Given the description of an element on the screen output the (x, y) to click on. 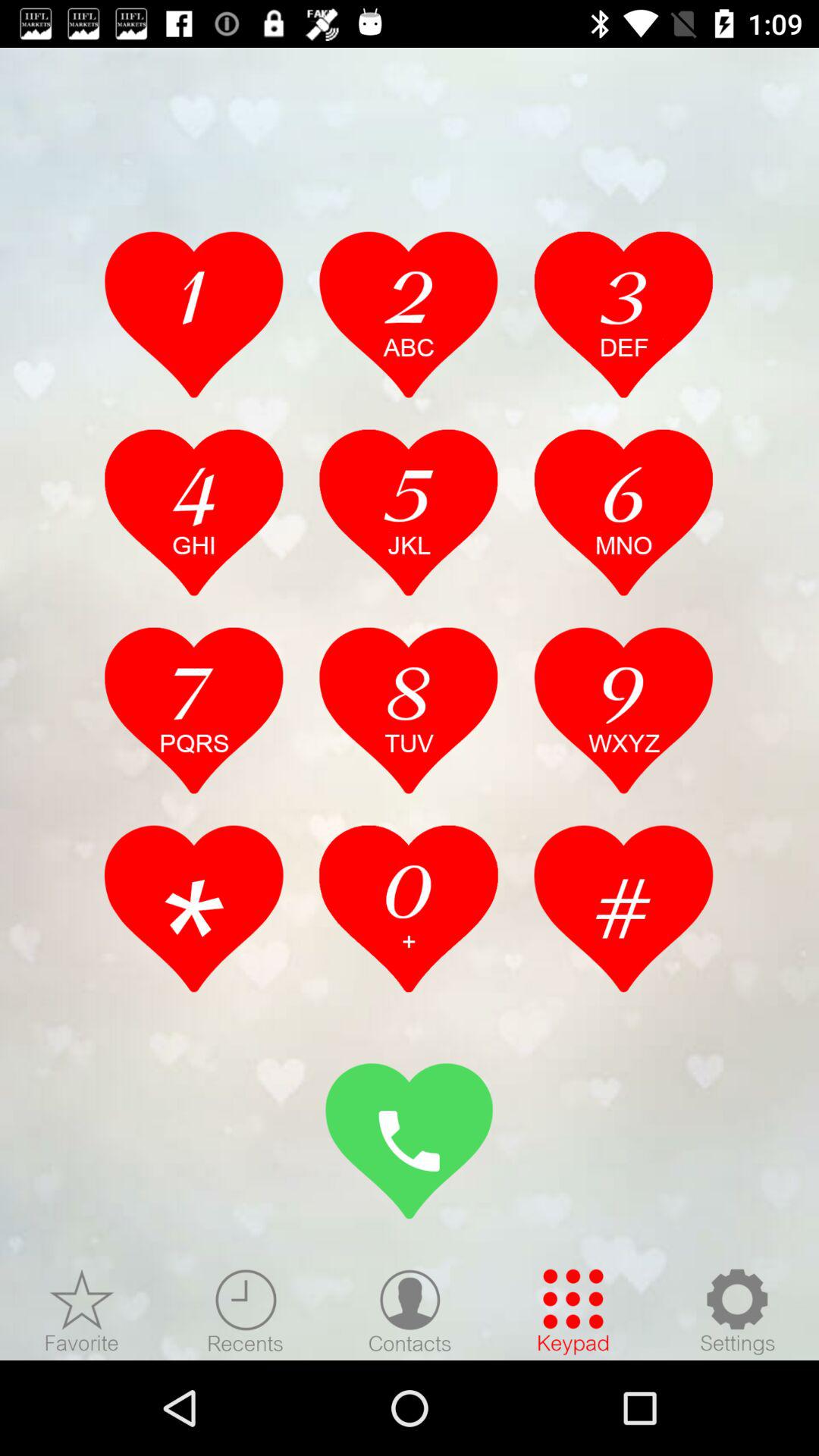
8 (408, 710)
